Given the description of an element on the screen output the (x, y) to click on. 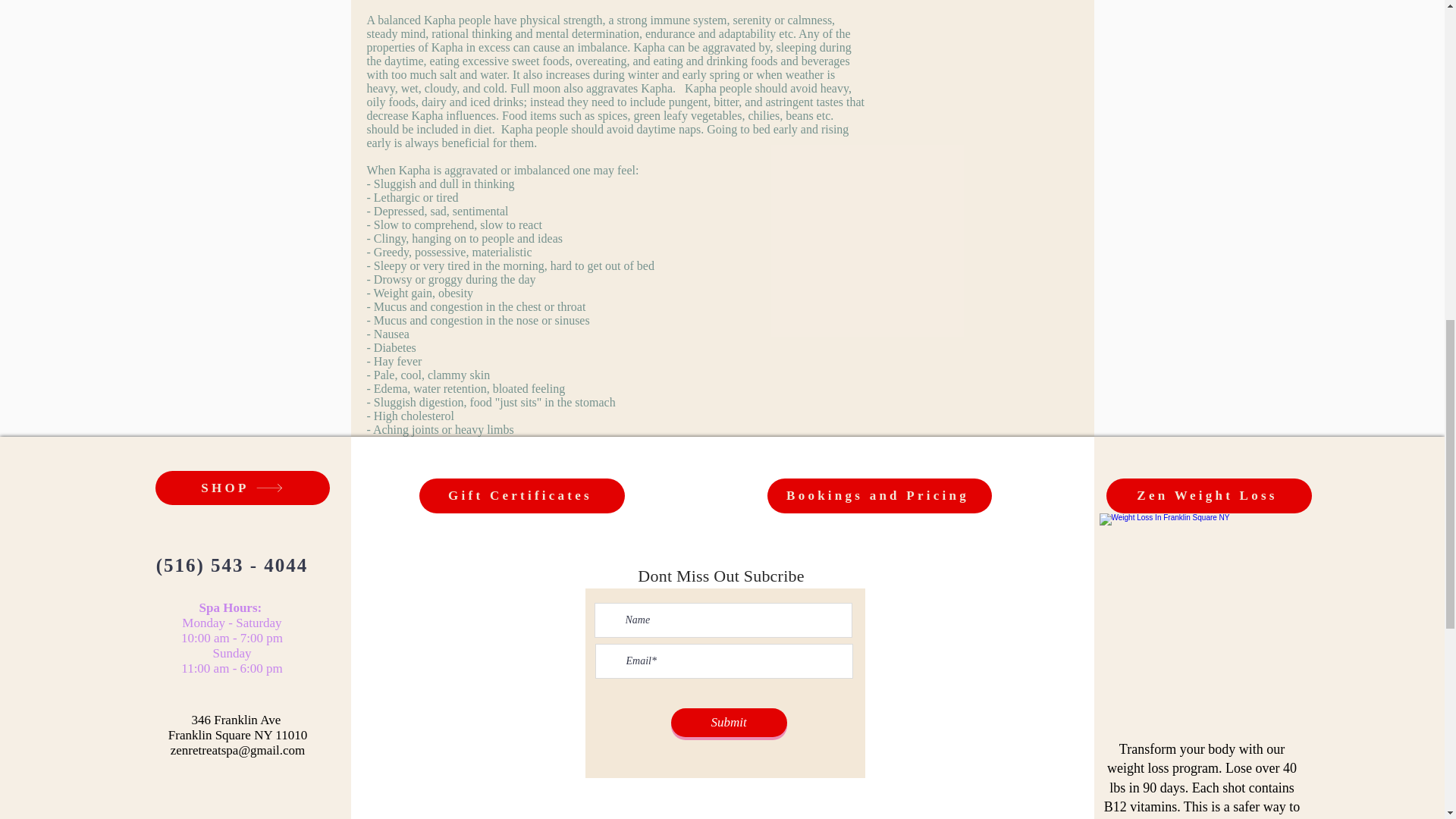
Bookings and Pricing (879, 495)
Submit (727, 722)
Zen Weight Loss (1208, 495)
Gift Certificates (521, 495)
SHOP (241, 487)
